Given the description of an element on the screen output the (x, y) to click on. 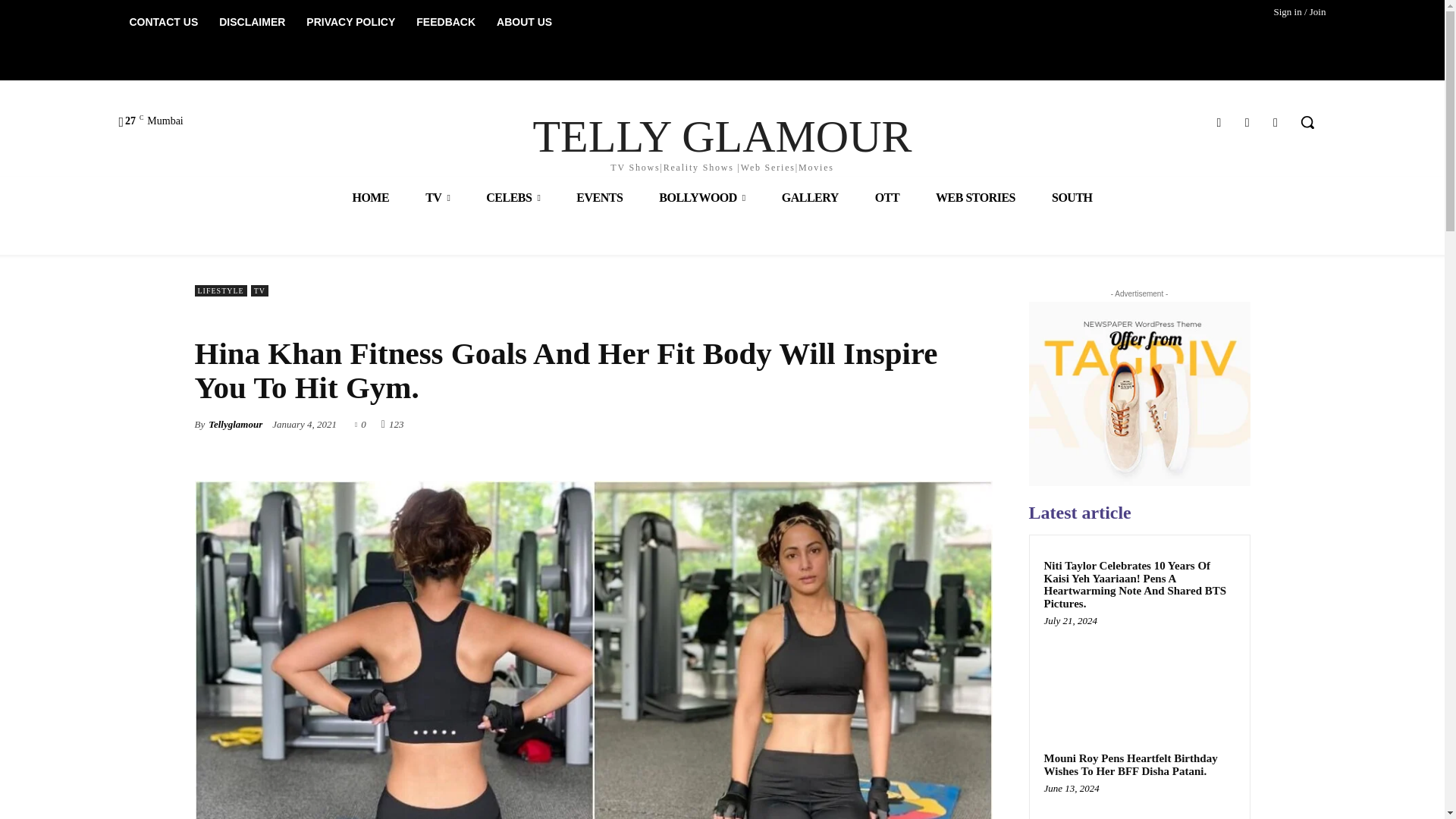
TV (437, 197)
CONTACT US (162, 22)
Facebook (1218, 122)
HOME (370, 197)
ABOUT US (524, 22)
DISCLAIMER (251, 22)
FEEDBACK (446, 22)
Youtube (1275, 122)
Twitter (1246, 122)
